Given the description of an element on the screen output the (x, y) to click on. 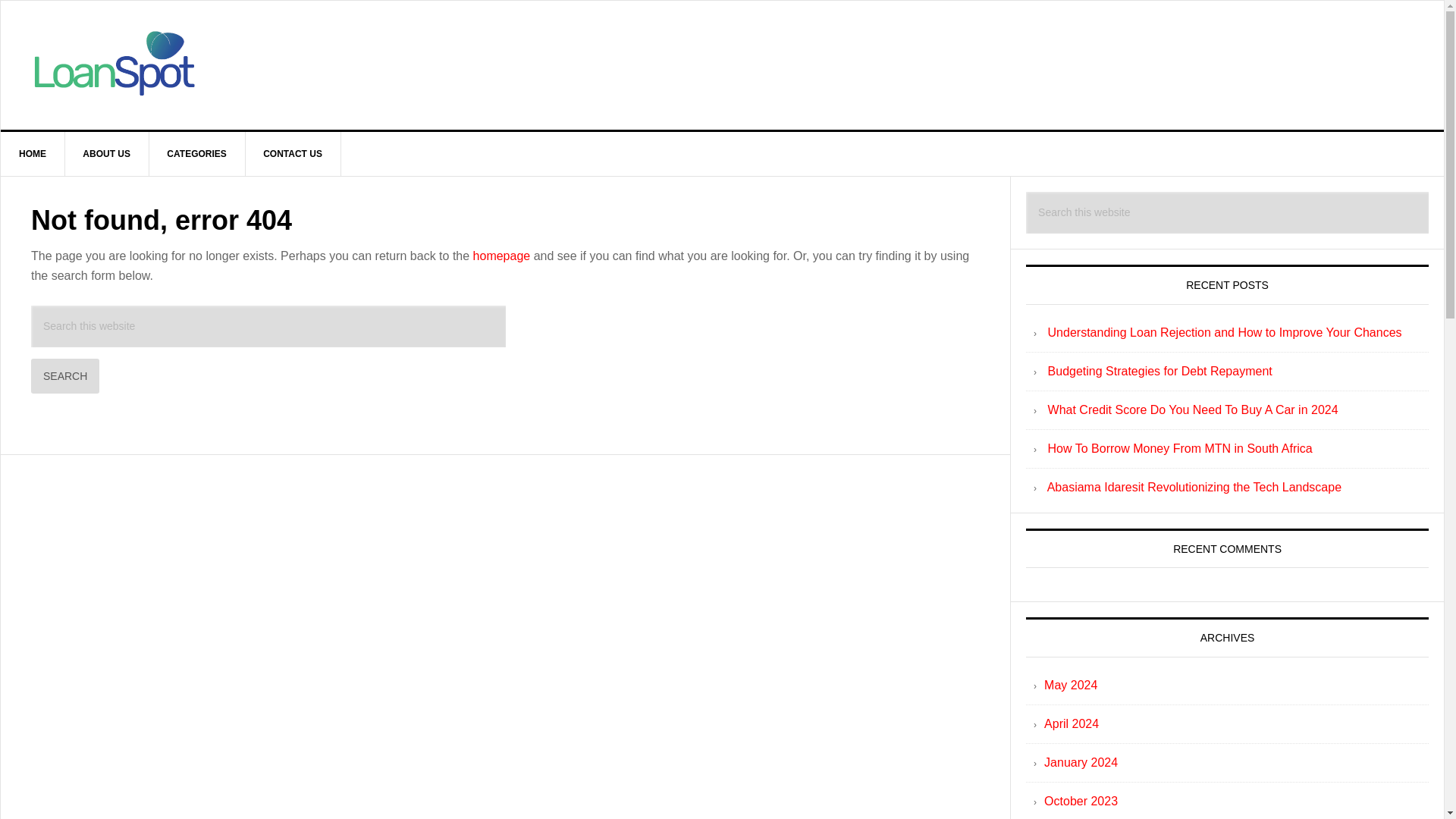
CONTACT US (292, 153)
Budgeting Strategies for Debt Repayment (1160, 370)
April 2024 (1071, 723)
homepage (502, 255)
Search (64, 375)
Understanding Loan Rejection and How to Improve Your Chances (1225, 332)
HOME (33, 153)
LOANSPOT.IO SOUTH AFRICA (721, 65)
Abasiama Idaresit Revolutionizing the Tech Landscape (1193, 486)
